Given the description of an element on the screen output the (x, y) to click on. 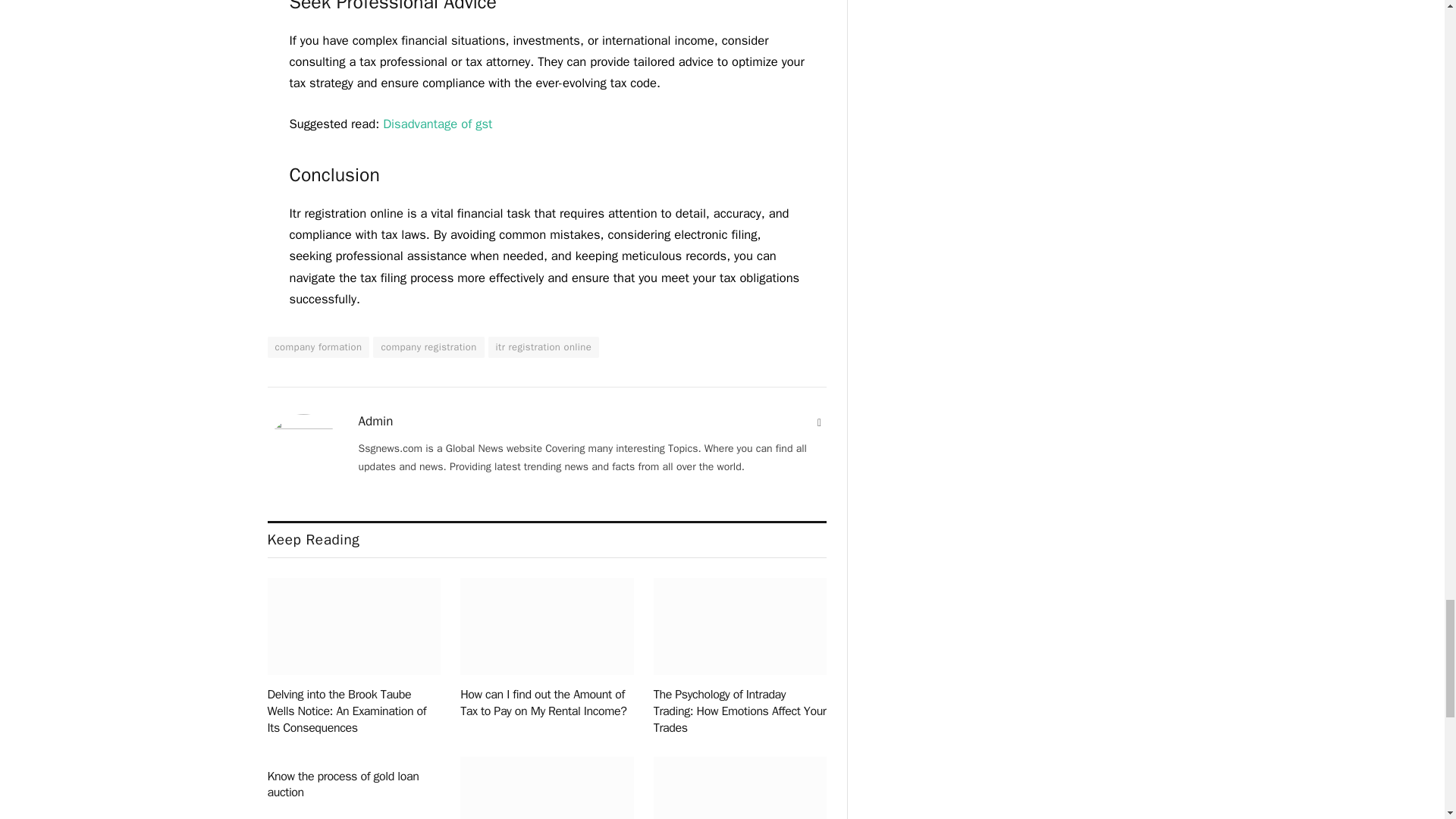
Website (818, 422)
Posts by Admin (375, 421)
